Given the description of an element on the screen output the (x, y) to click on. 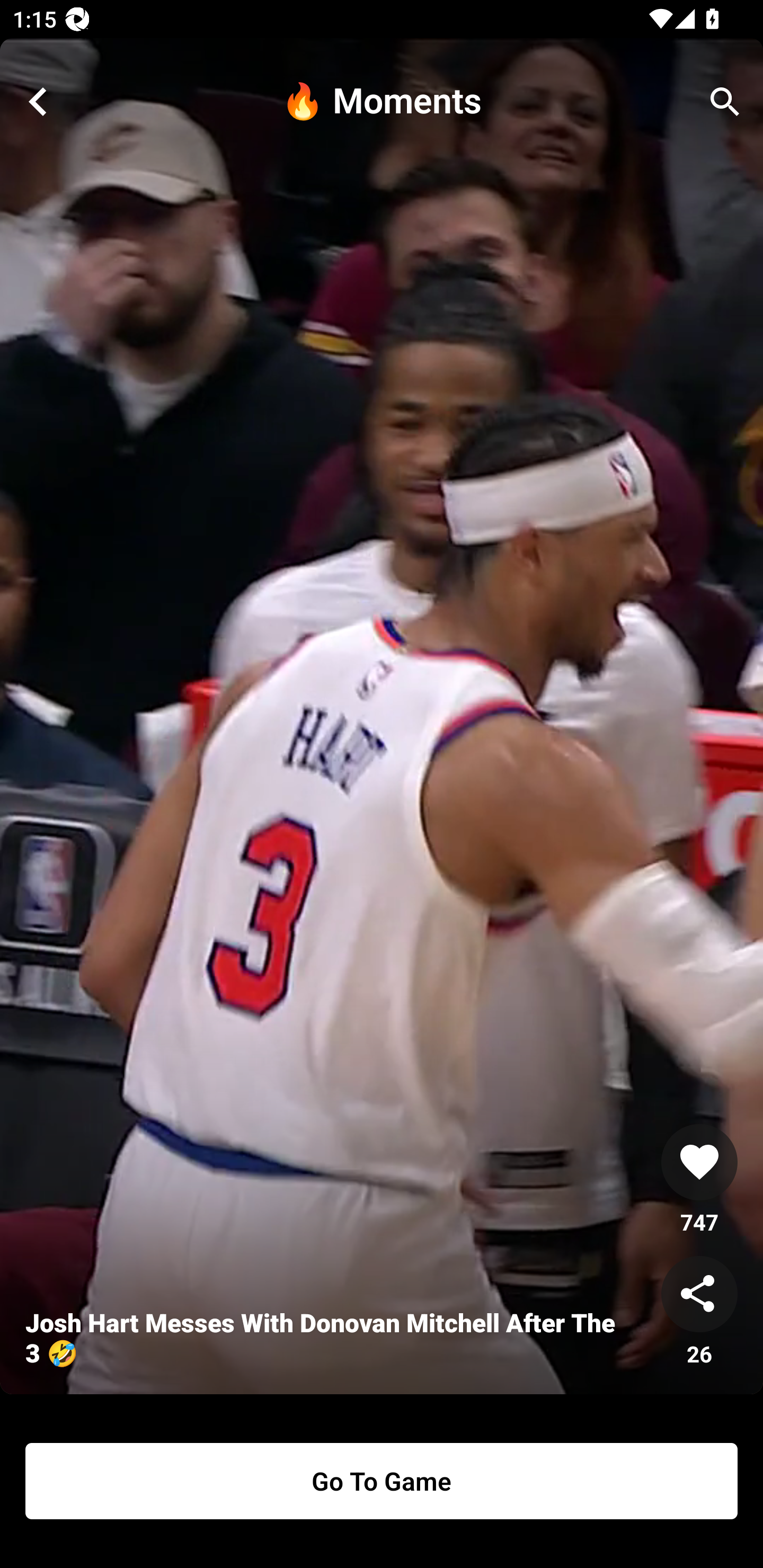
close (38, 101)
search (724, 101)
like 747 747 Likes (699, 1180)
share 26 26 Shares (699, 1311)
Go To Game (381, 1480)
